Given the description of an element on the screen output the (x, y) to click on. 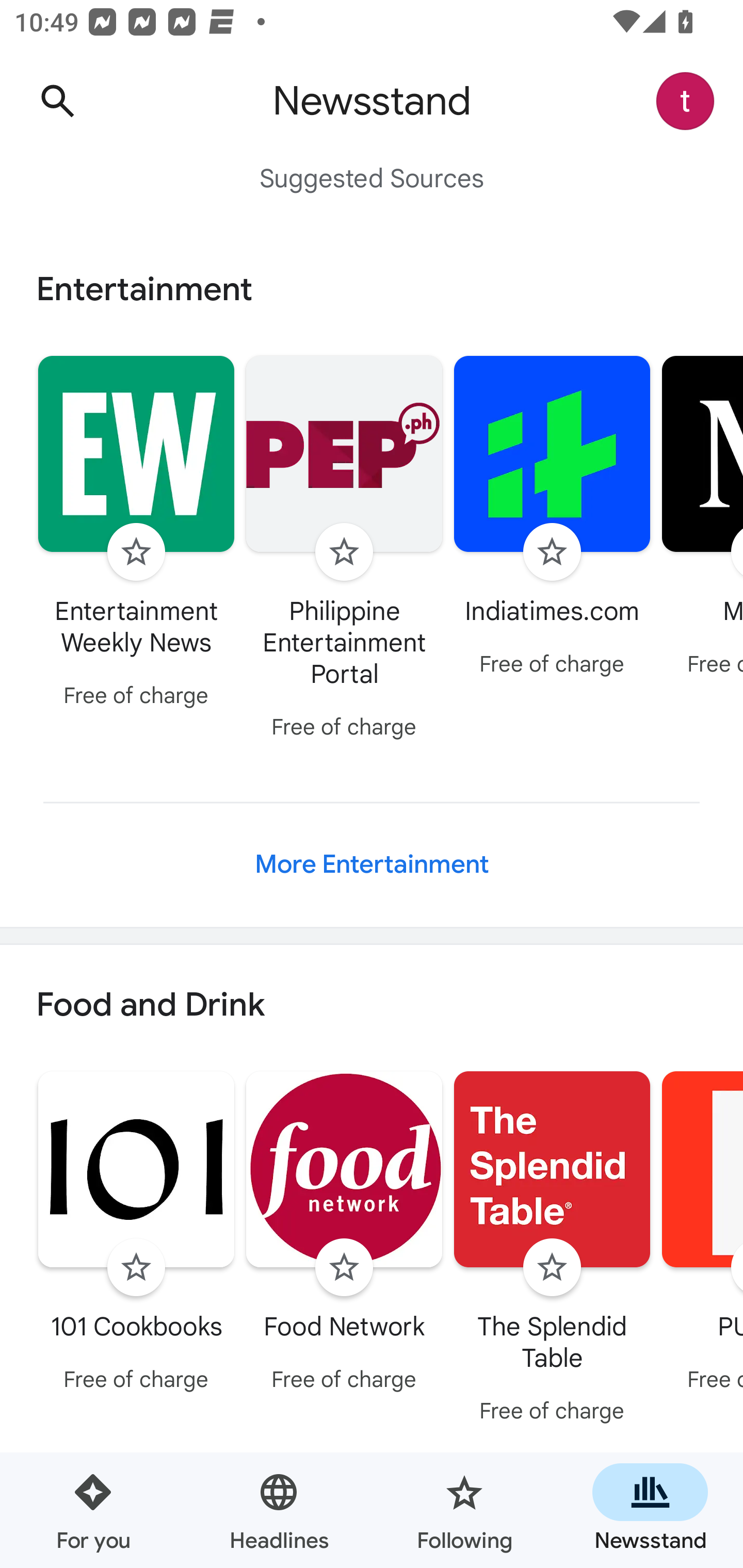
Search (57, 100)
Entertainment (371, 288)
Follow Entertainment Weekly News Free of charge (136, 534)
Follow Indiatimes.com Free of charge (552, 517)
Follow (135, 551)
Follow (343, 551)
Follow (552, 551)
More Entertainment (371, 864)
Food and Drink (371, 1005)
Follow 101 Cookbooks Free of charge (136, 1234)
Follow Food Network Free of charge (344, 1234)
Follow The Splendid Table Free of charge (552, 1250)
Follow (135, 1267)
Follow (343, 1267)
Follow (552, 1267)
For you (92, 1509)
Headlines (278, 1509)
Following (464, 1509)
Newsstand (650, 1509)
